Given the description of an element on the screen output the (x, y) to click on. 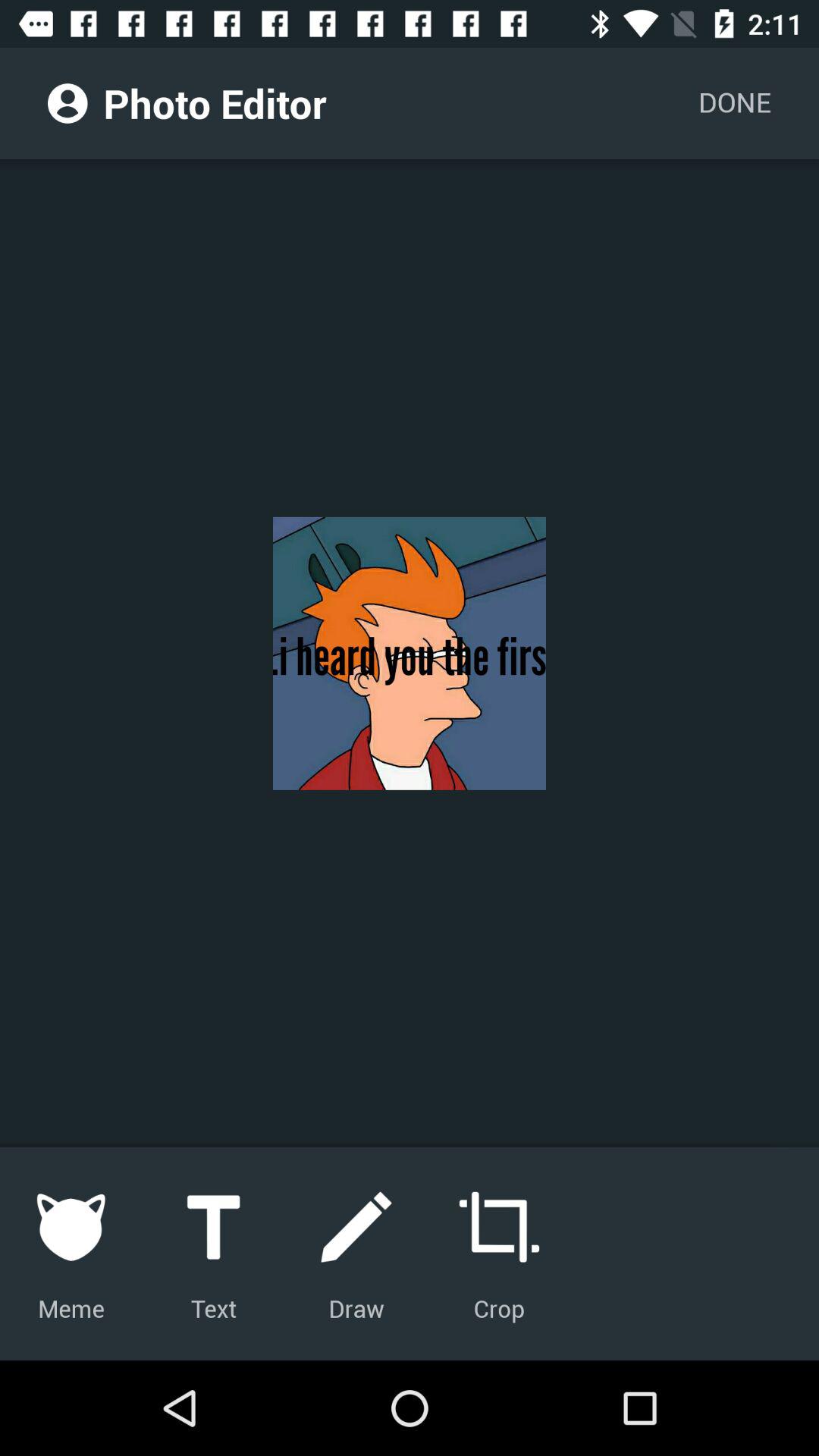
tap done (734, 103)
